Given the description of an element on the screen output the (x, y) to click on. 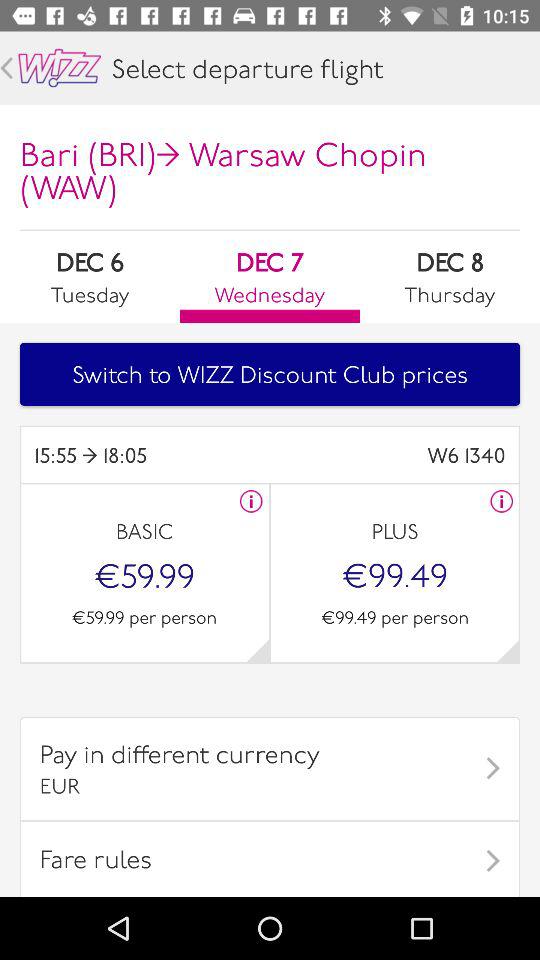
view content (257, 650)
